Given the description of an element on the screen output the (x, y) to click on. 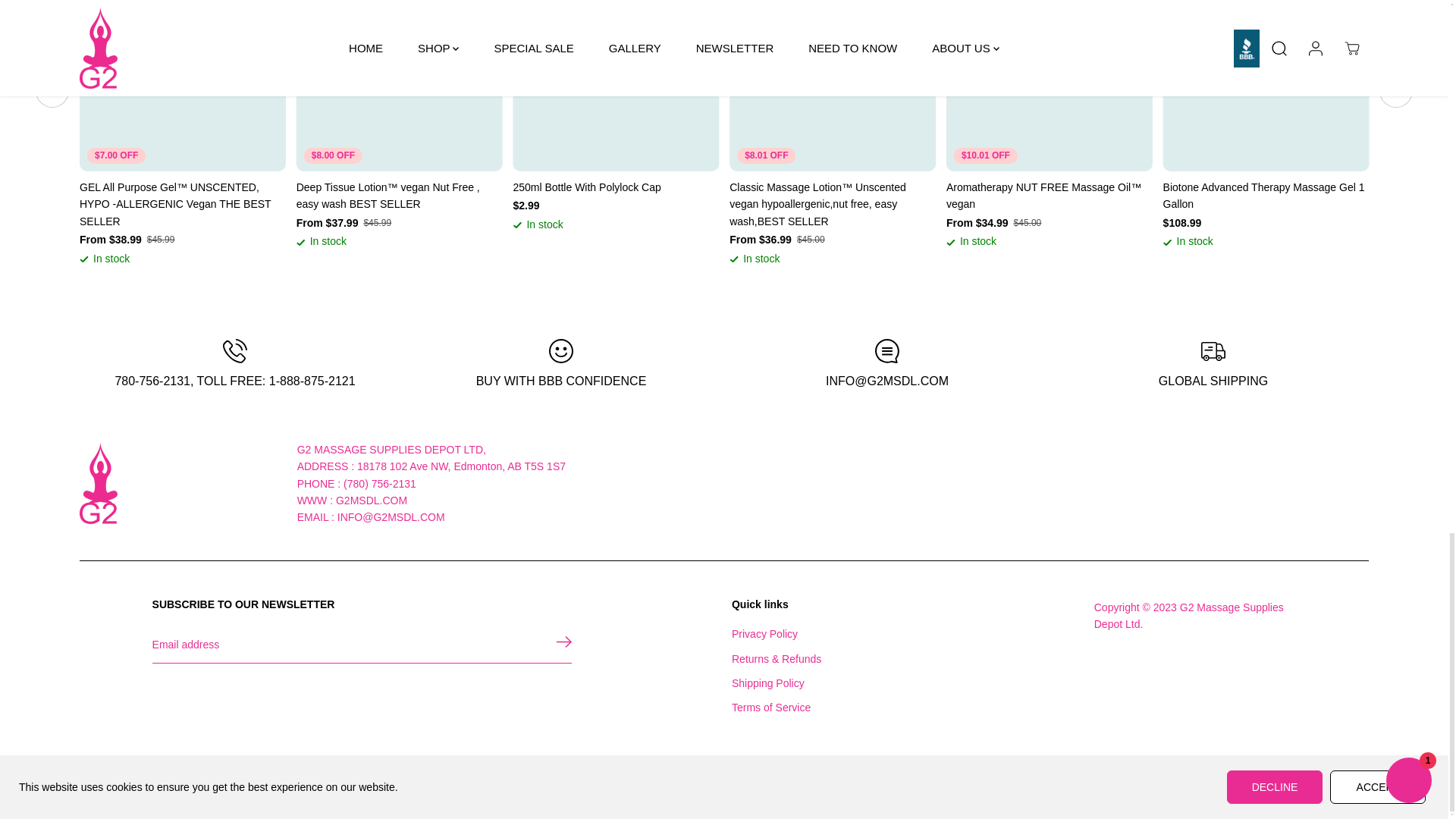
250ml Bottle With Polylock Cap (615, 187)
